Given the description of an element on the screen output the (x, y) to click on. 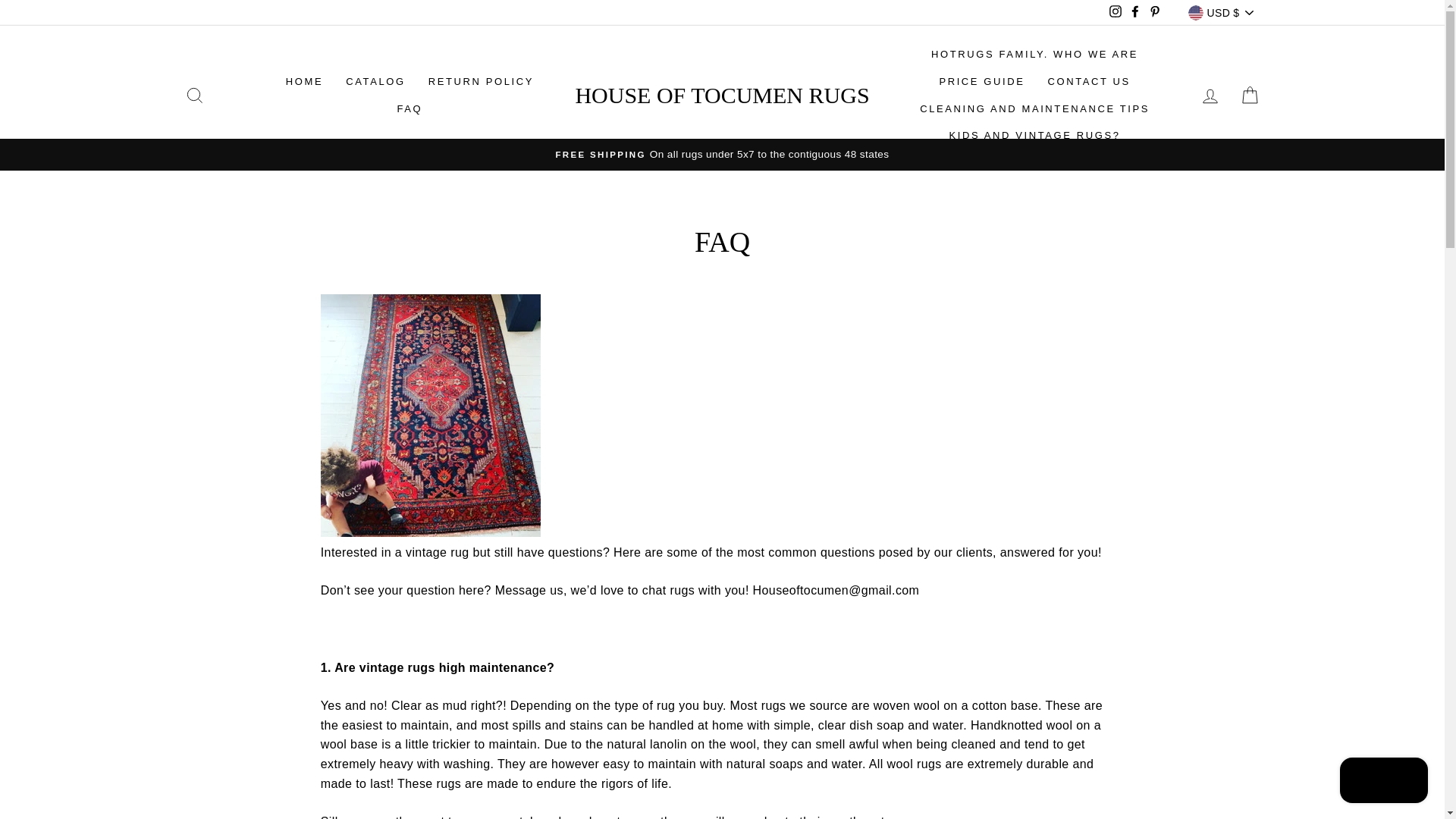
FAQ (409, 108)
PRICE GUIDE (981, 81)
CLEANING AND MAINTENANCE TIPS (1034, 108)
RETURN POLICY (480, 81)
CART (1249, 95)
LOG IN (1210, 95)
HOME (304, 81)
CATALOG (375, 81)
HOTRUGS FAMILY. WHO WE ARE (1035, 53)
